Given the description of an element on the screen output the (x, y) to click on. 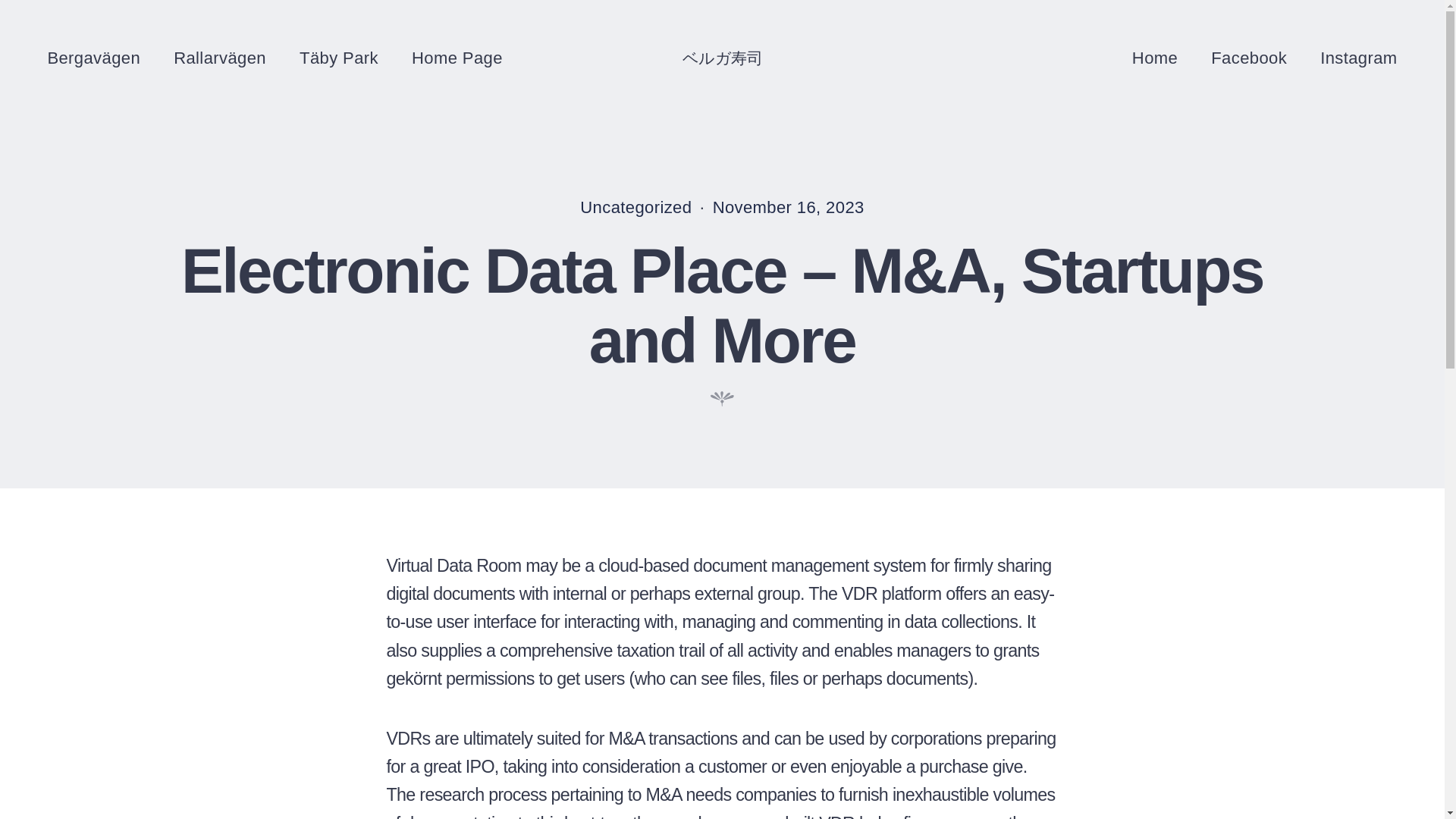
Facebook (1249, 54)
November 16, 2023 (788, 207)
Uncategorized (635, 207)
Home Page (457, 54)
Instagram (1358, 54)
Home (1154, 54)
